Given the description of an element on the screen output the (x, y) to click on. 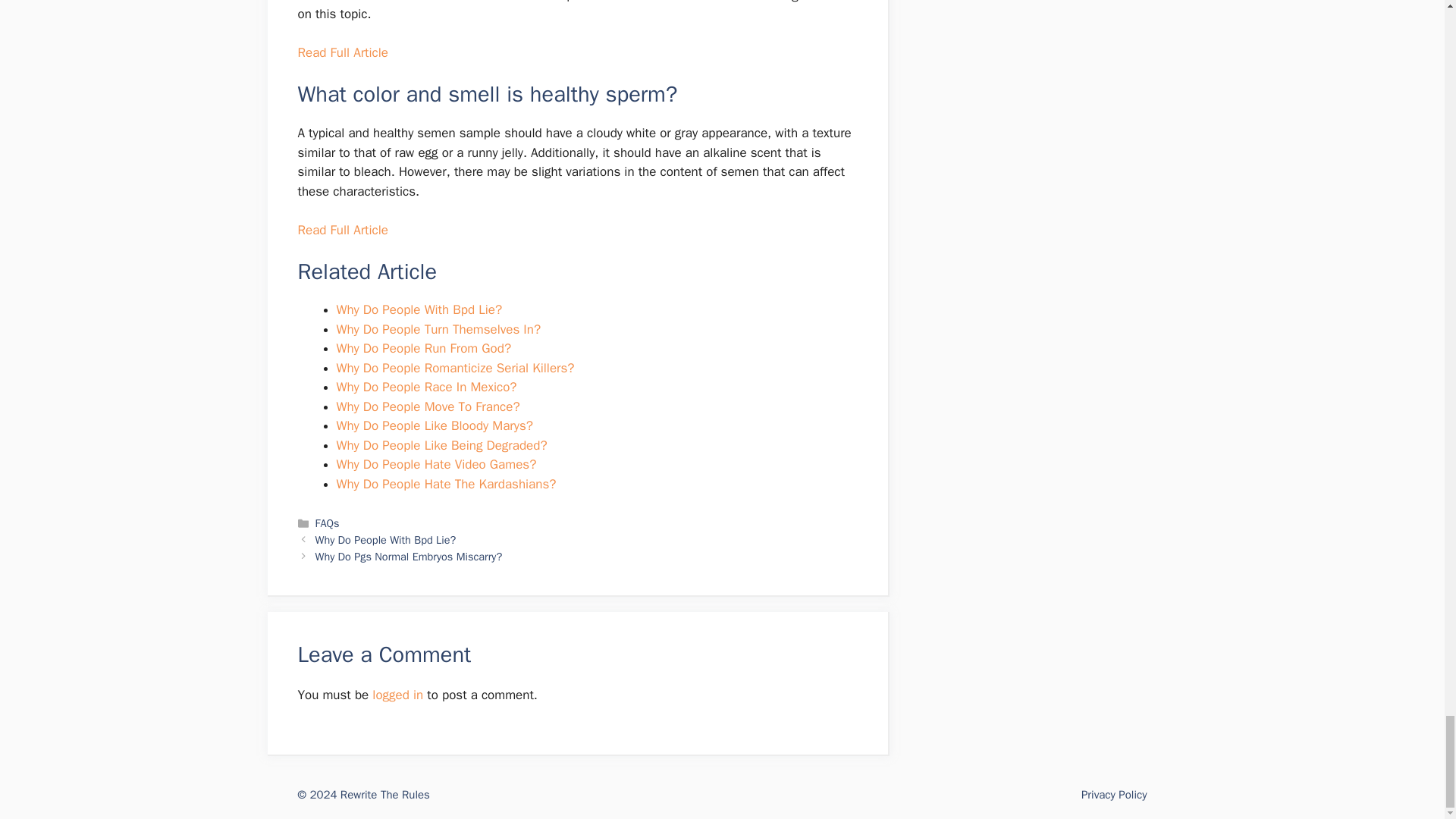
Why Do People Hate Video Games? (436, 464)
Why Do People Romanticize Serial Killers? (455, 367)
Why Do People Race In Mexico? (426, 386)
Read Full Article (342, 52)
FAQs (327, 522)
Why Do People Move To France? (427, 406)
Why Do People Run From God? (424, 348)
Read Full Article (342, 229)
Why Do People Hate The Kardashians? (446, 483)
Why Do People Turn Themselves In? (438, 329)
Why Do People With Bpd Lie? (419, 309)
Why Do People Like Bloody Marys? (434, 425)
Why Do People Like Being Degraded? (441, 445)
